Given the description of an element on the screen output the (x, y) to click on. 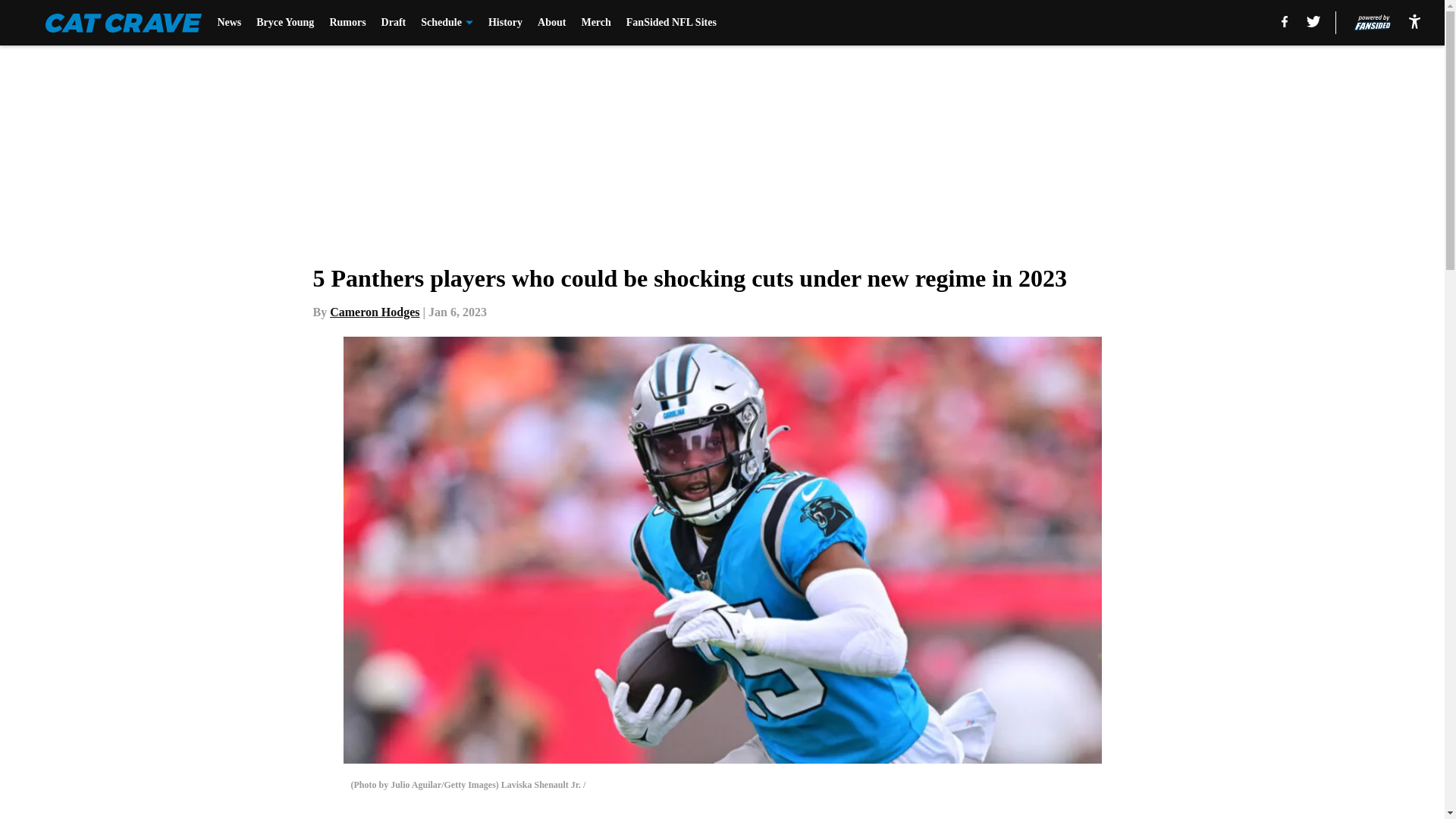
Merch (595, 22)
History (504, 22)
Rumors (347, 22)
Cameron Hodges (374, 311)
FanSided NFL Sites (671, 22)
About (551, 22)
Bryce Young (285, 22)
News (228, 22)
Draft (393, 22)
